Given the description of an element on the screen output the (x, y) to click on. 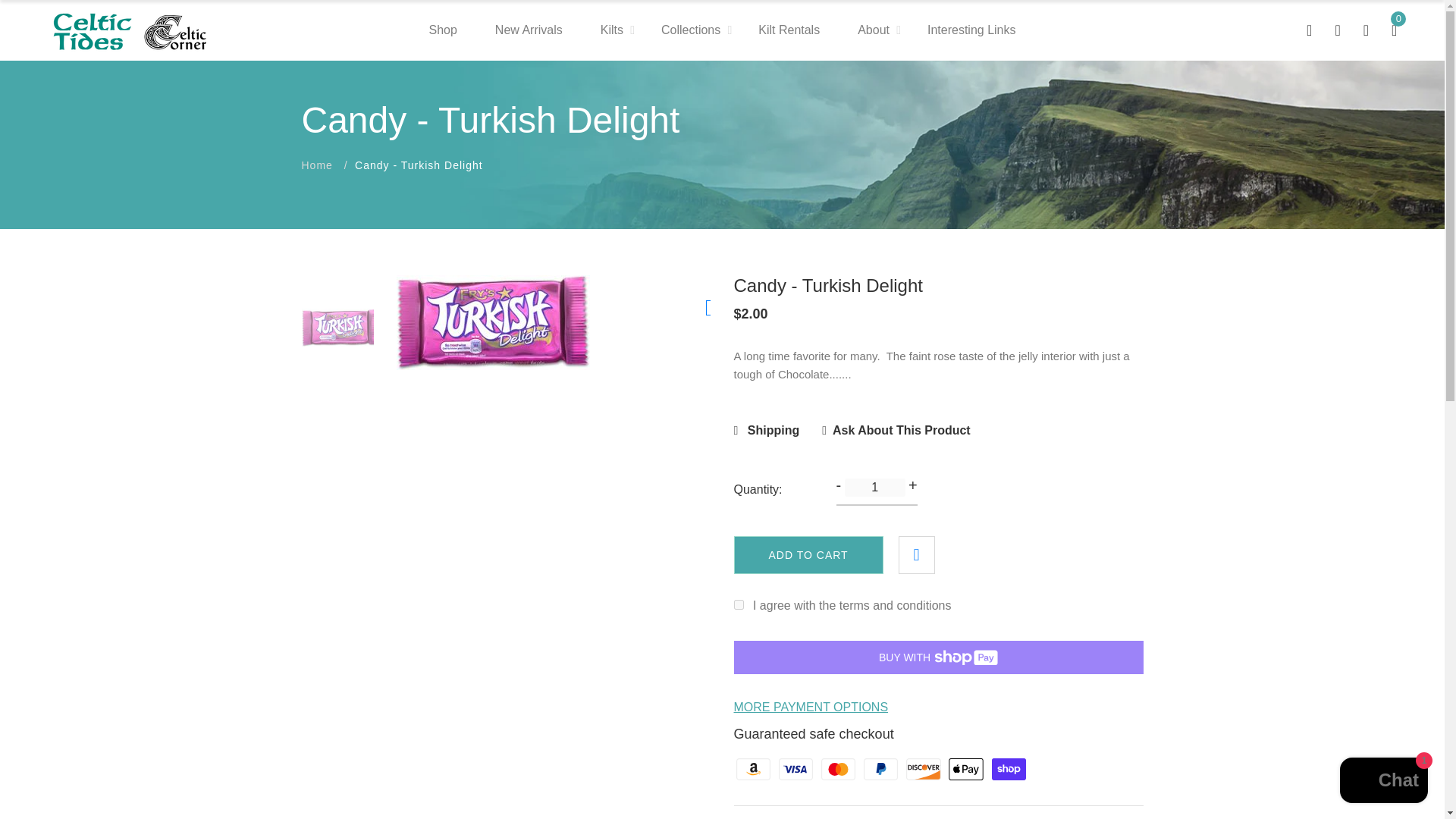
Shop (442, 30)
Shopify online store chat (1383, 781)
Back to the home page (317, 165)
Kilts (611, 30)
New Arrivals (528, 30)
1 (874, 487)
Collections (690, 30)
1 (738, 604)
